Given the description of an element on the screen output the (x, y) to click on. 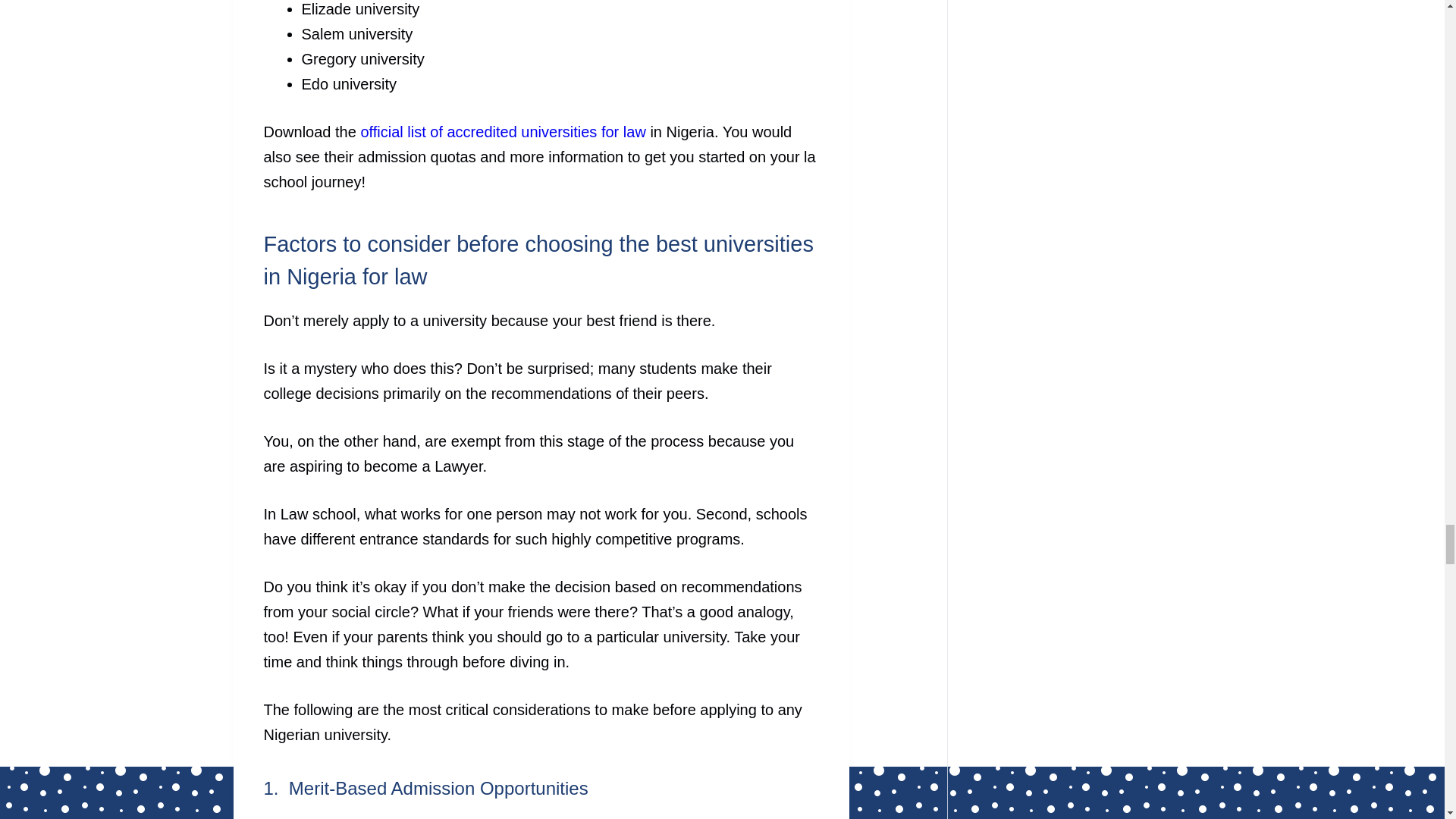
official list of accredited universities for law (502, 131)
